Given the description of an element on the screen output the (x, y) to click on. 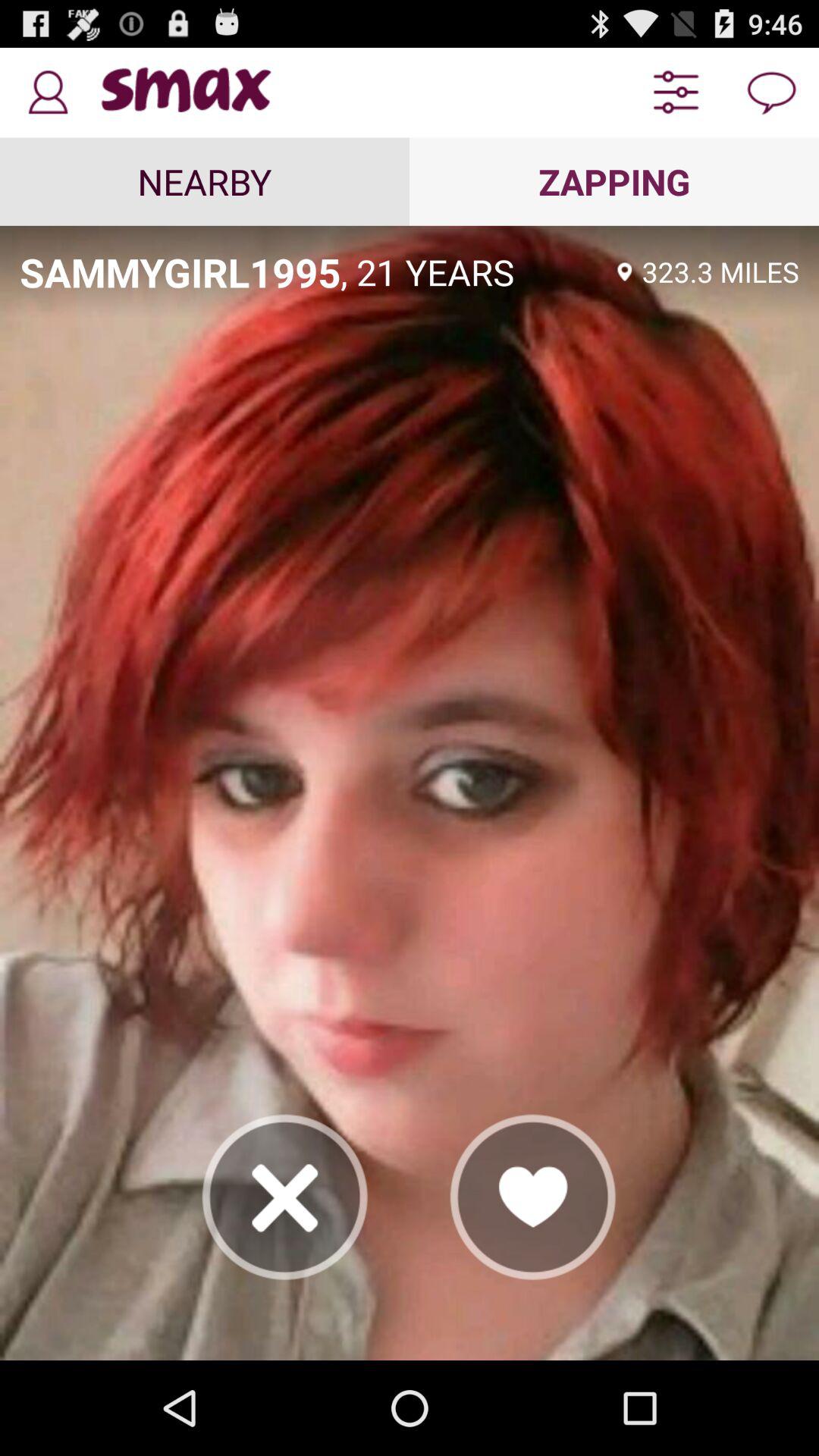
press app below zapping app (720, 271)
